Given the description of an element on the screen output the (x, y) to click on. 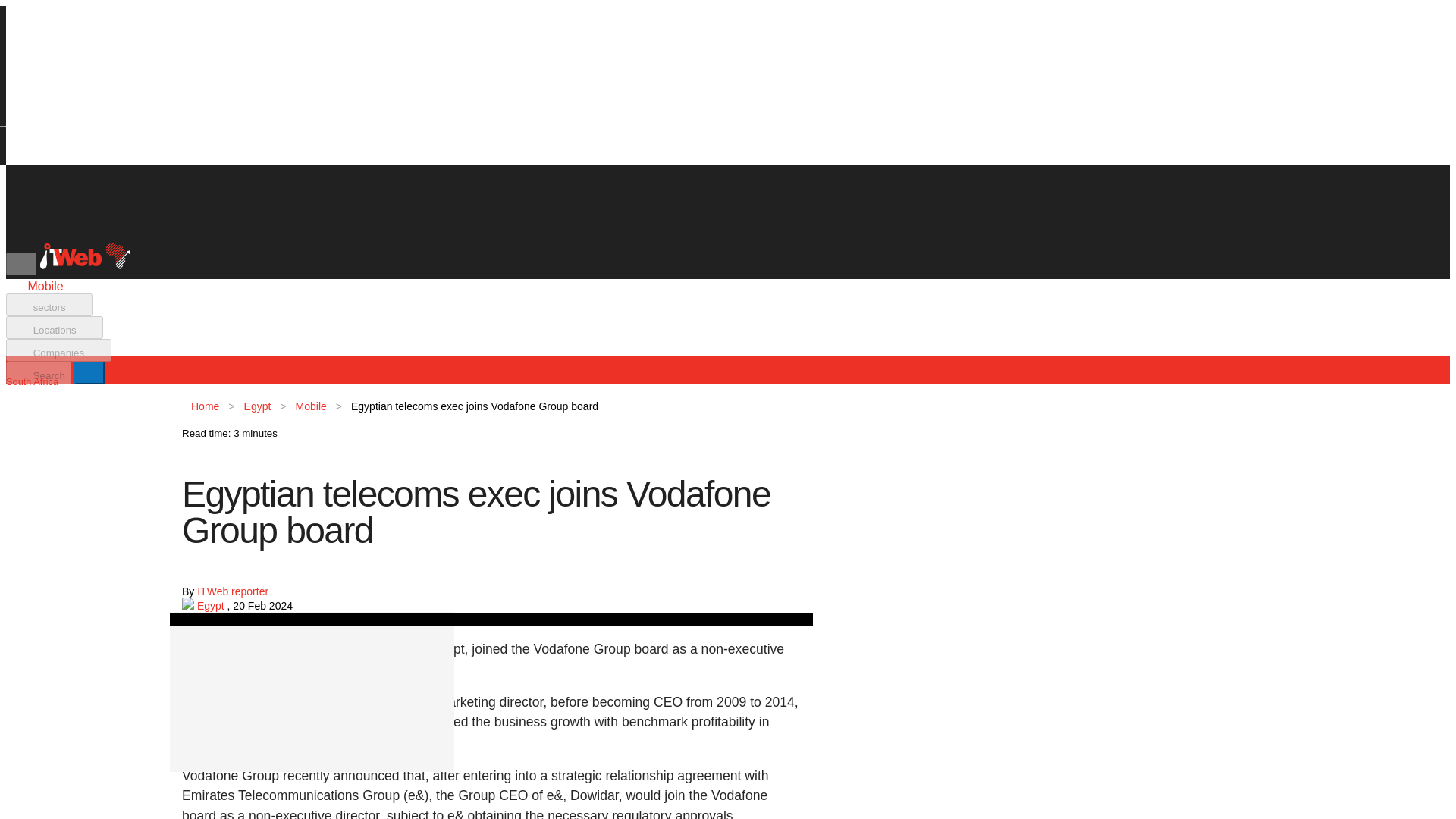
Egypt (257, 406)
Egypt (211, 605)
Locations (54, 327)
Mobile (310, 406)
Companies (58, 350)
ITWeb reporter (231, 591)
sectors (49, 304)
Home (204, 406)
South Africa (31, 380)
Search (38, 372)
